Given the description of an element on the screen output the (x, y) to click on. 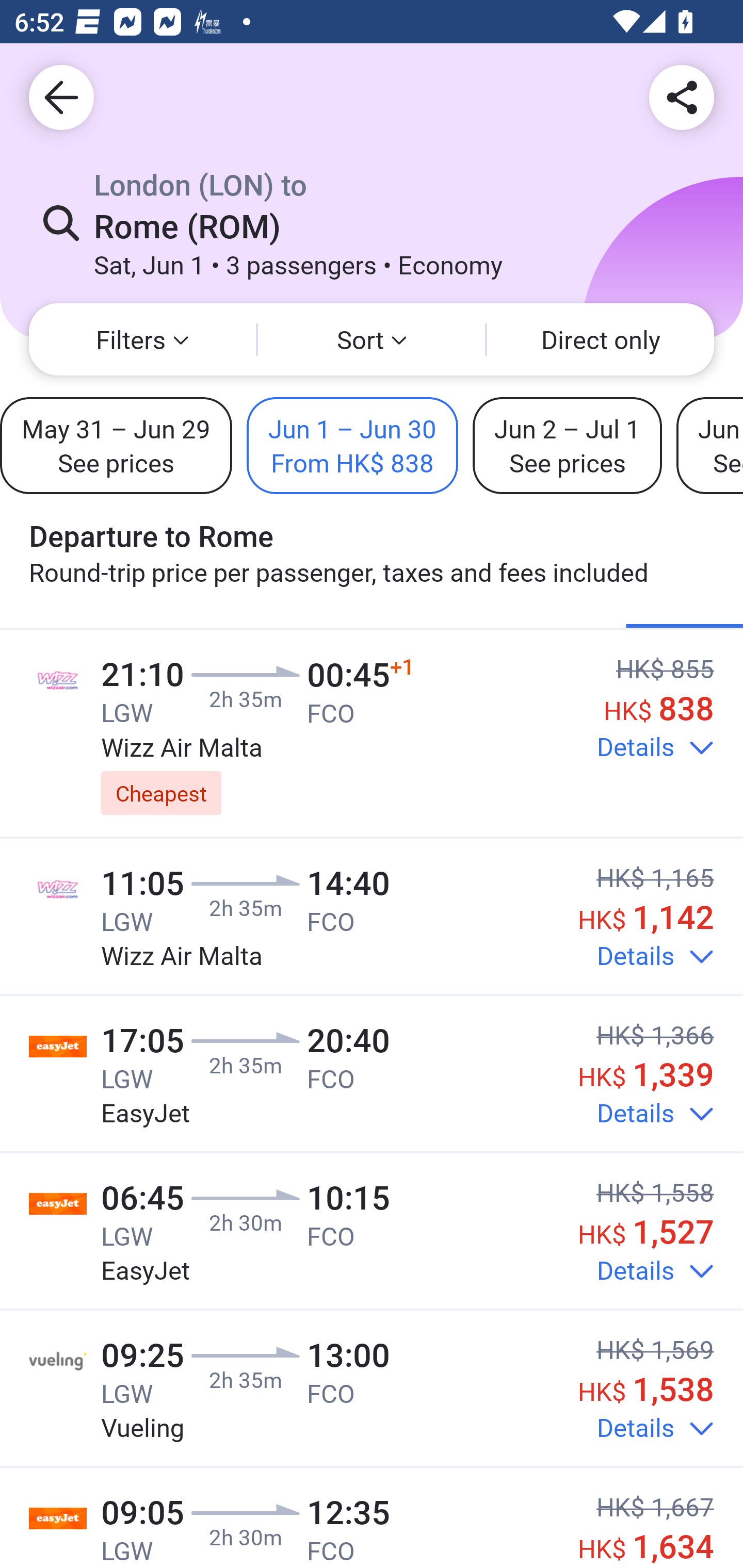
Filters (141, 339)
Sort (371, 339)
Direct only (600, 339)
May 31 – Jun 29 See prices (115, 444)
Jun 1 – Jun 30 From HK$ 838 (352, 444)
Jun 2 – Jul 1 See prices (567, 444)
